Given the description of an element on the screen output the (x, y) to click on. 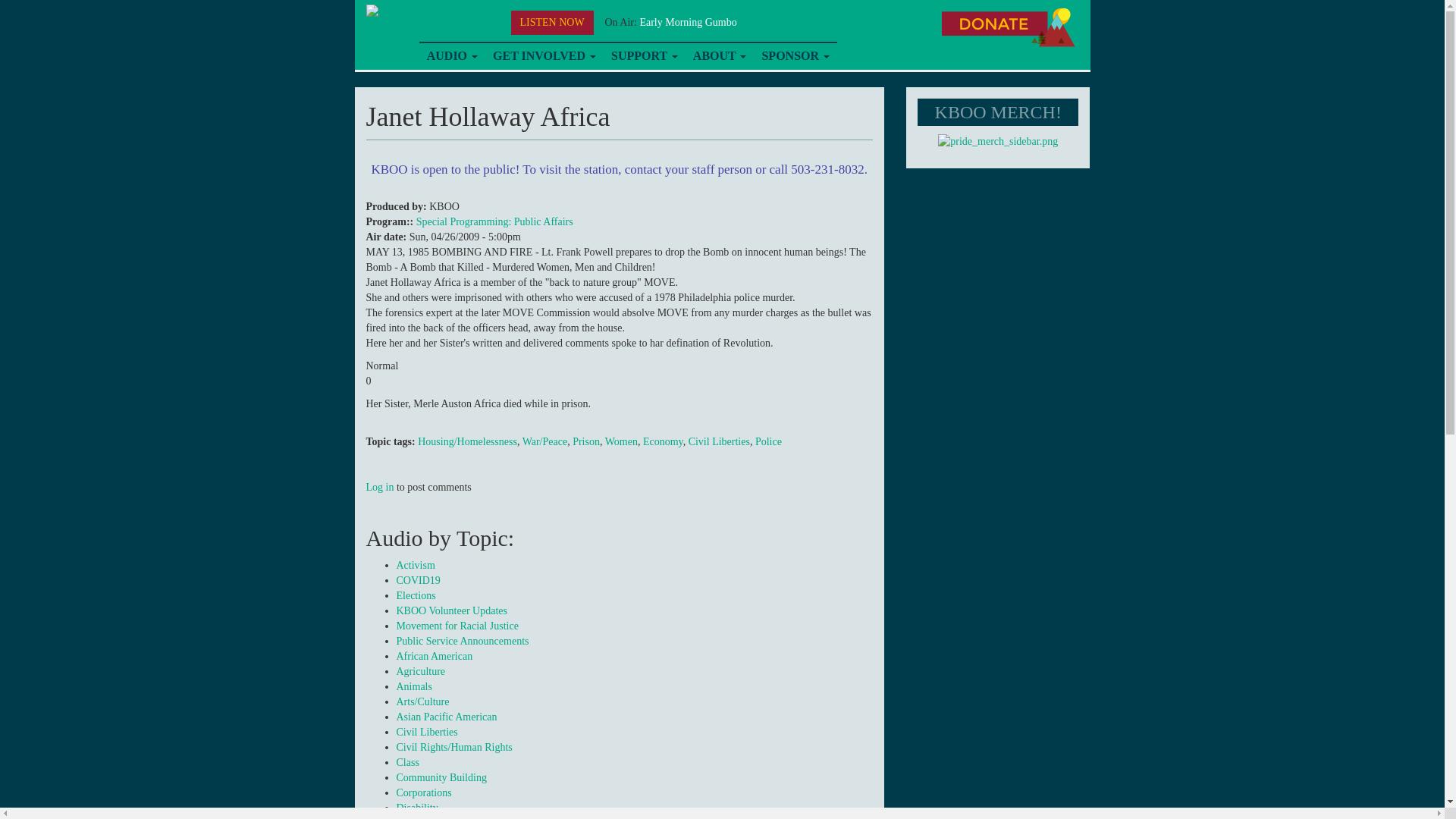
AUDIO (451, 55)
ABOUT (719, 55)
SUPPORT (644, 55)
LISTEN NOW (551, 22)
GET INVOLVED (544, 55)
Early Morning Gumbo (687, 21)
Home (384, 11)
